Given the description of an element on the screen output the (x, y) to click on. 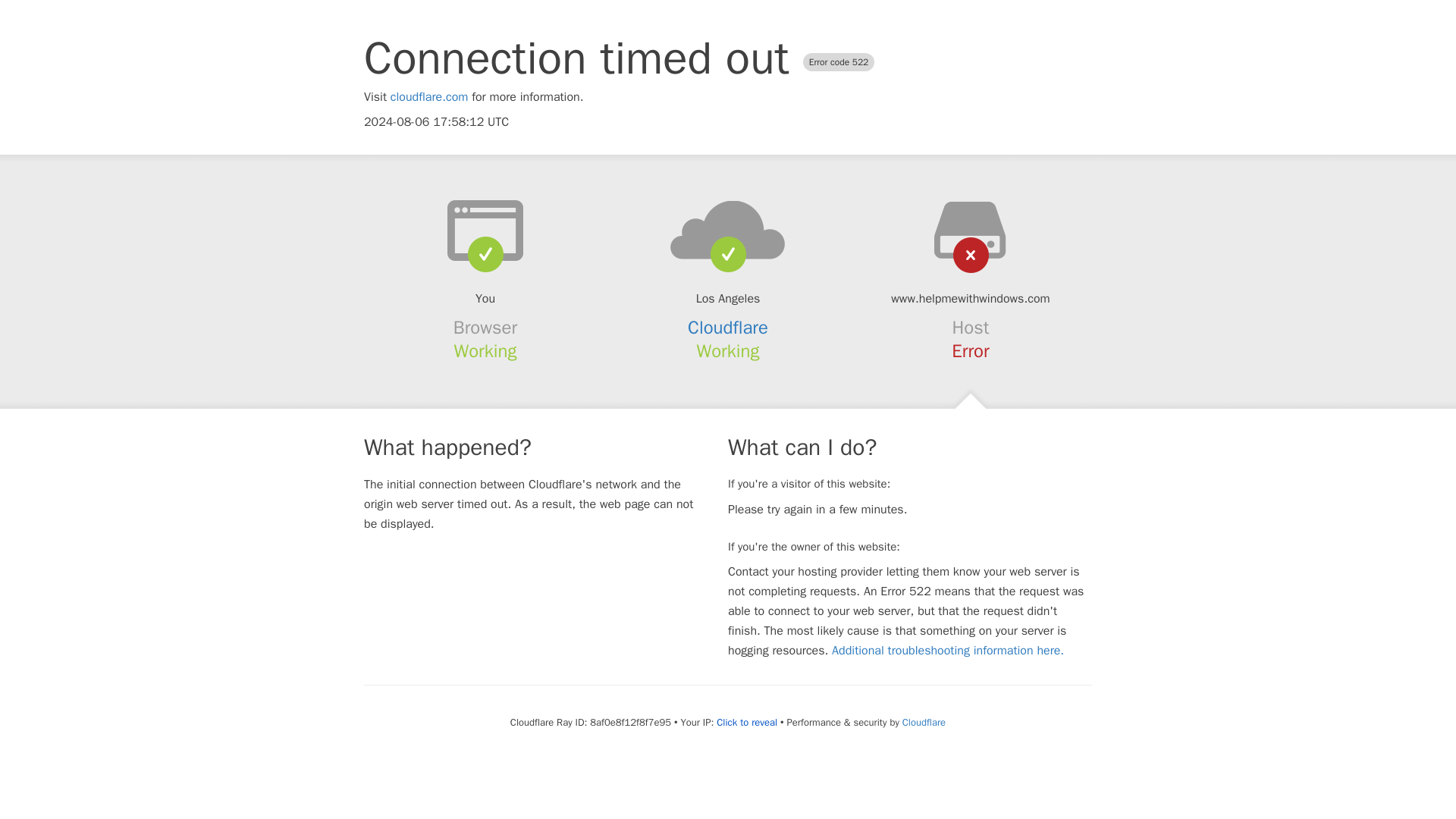
Click to reveal (746, 722)
Cloudflare (727, 327)
cloudflare.com (429, 96)
Additional troubleshooting information here. (947, 650)
Cloudflare (923, 721)
